Given the description of an element on the screen output the (x, y) to click on. 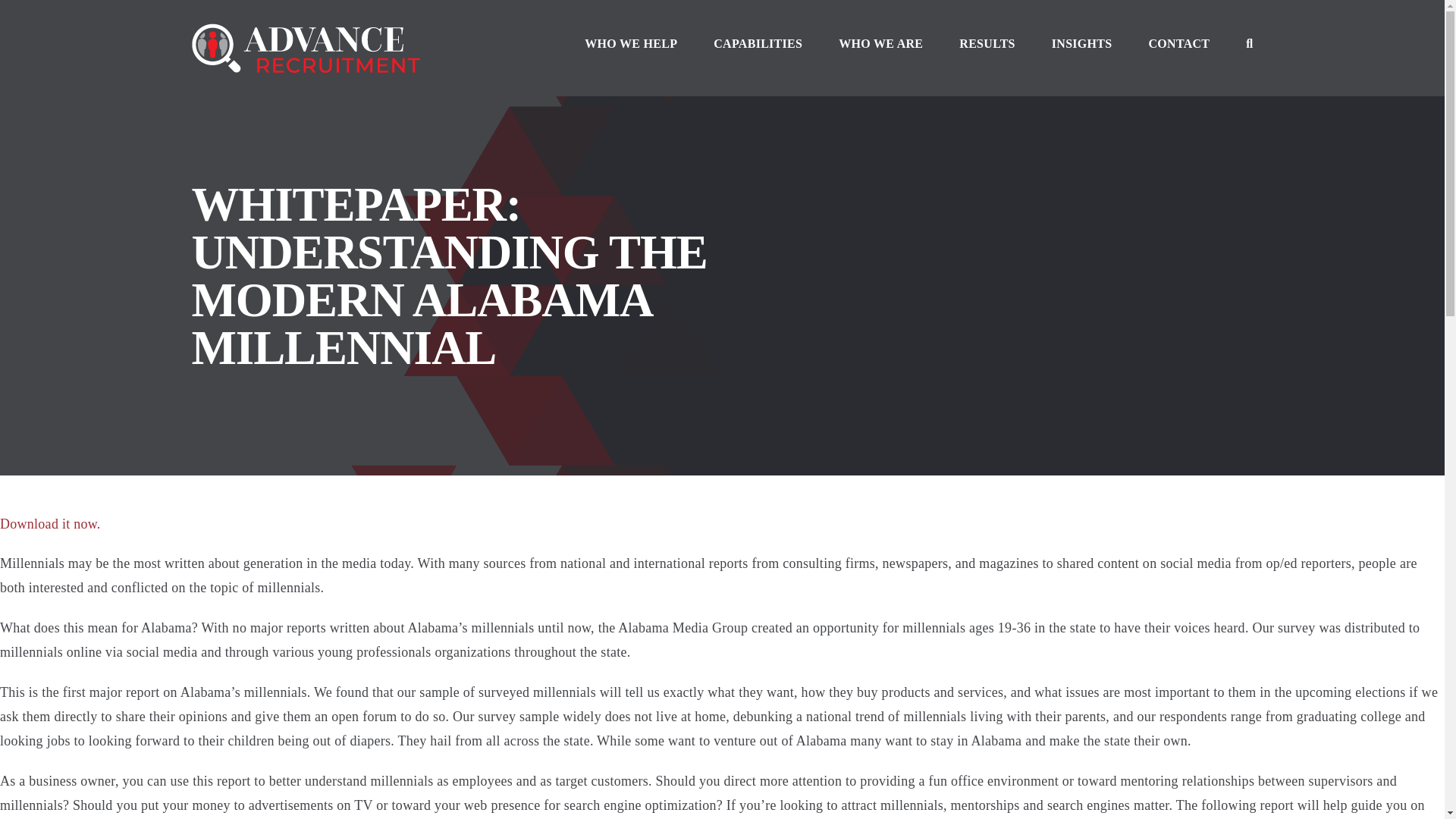
WHO WE HELP (631, 43)
CAPABILITIES (757, 43)
WHO WE ARE (880, 43)
